Given the description of an element on the screen output the (x, y) to click on. 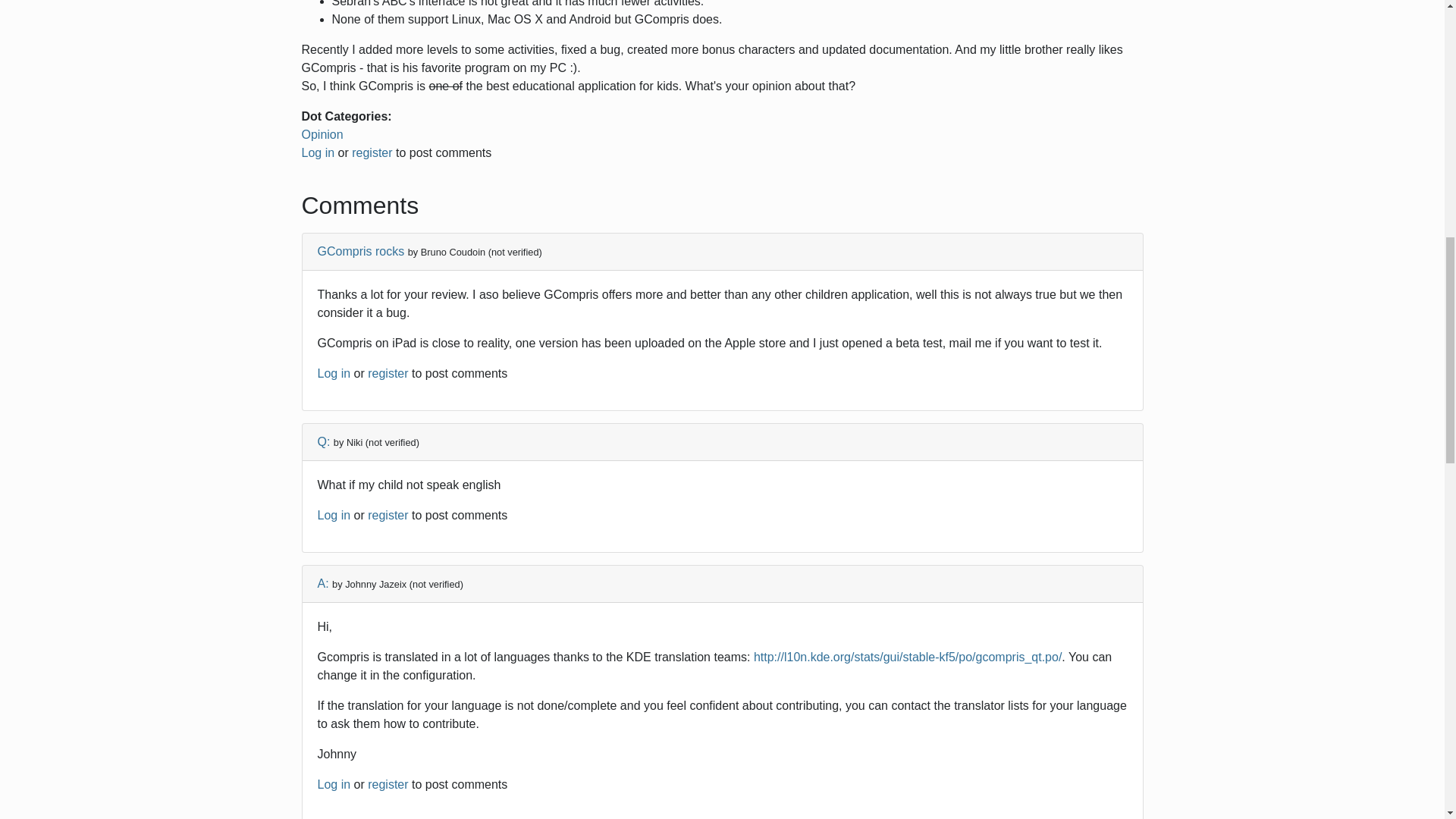
GCompris rocks (360, 250)
Log in (317, 152)
Log in (333, 373)
register (387, 514)
Log in (333, 784)
Log in (333, 514)
A: (324, 583)
Opinion (322, 133)
Q: (323, 440)
register (371, 152)
register (387, 784)
register (387, 373)
